Given the description of an element on the screen output the (x, y) to click on. 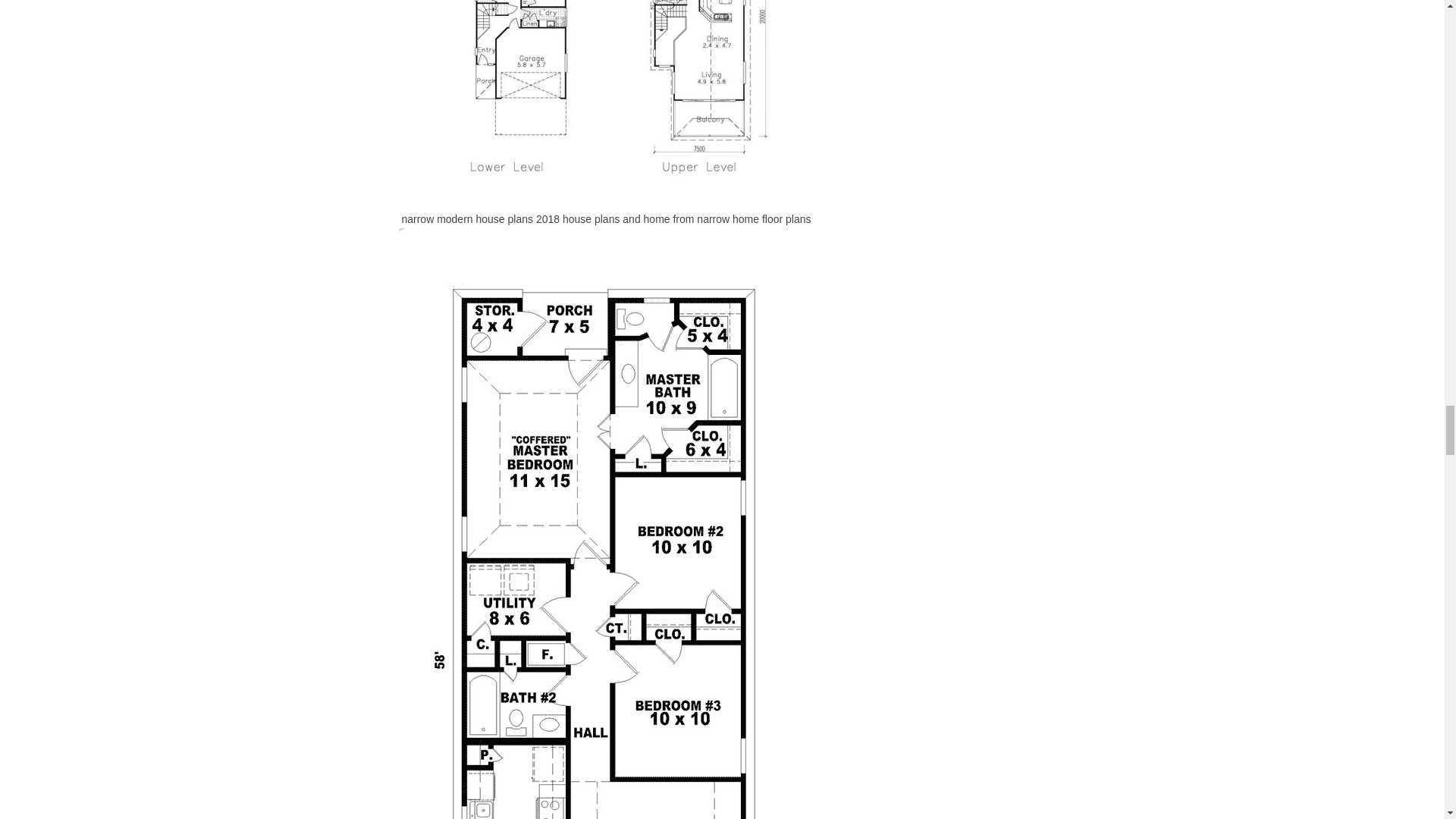
narrow modern house plans 2018 house plans and home (607, 99)
